Given the description of an element on the screen output the (x, y) to click on. 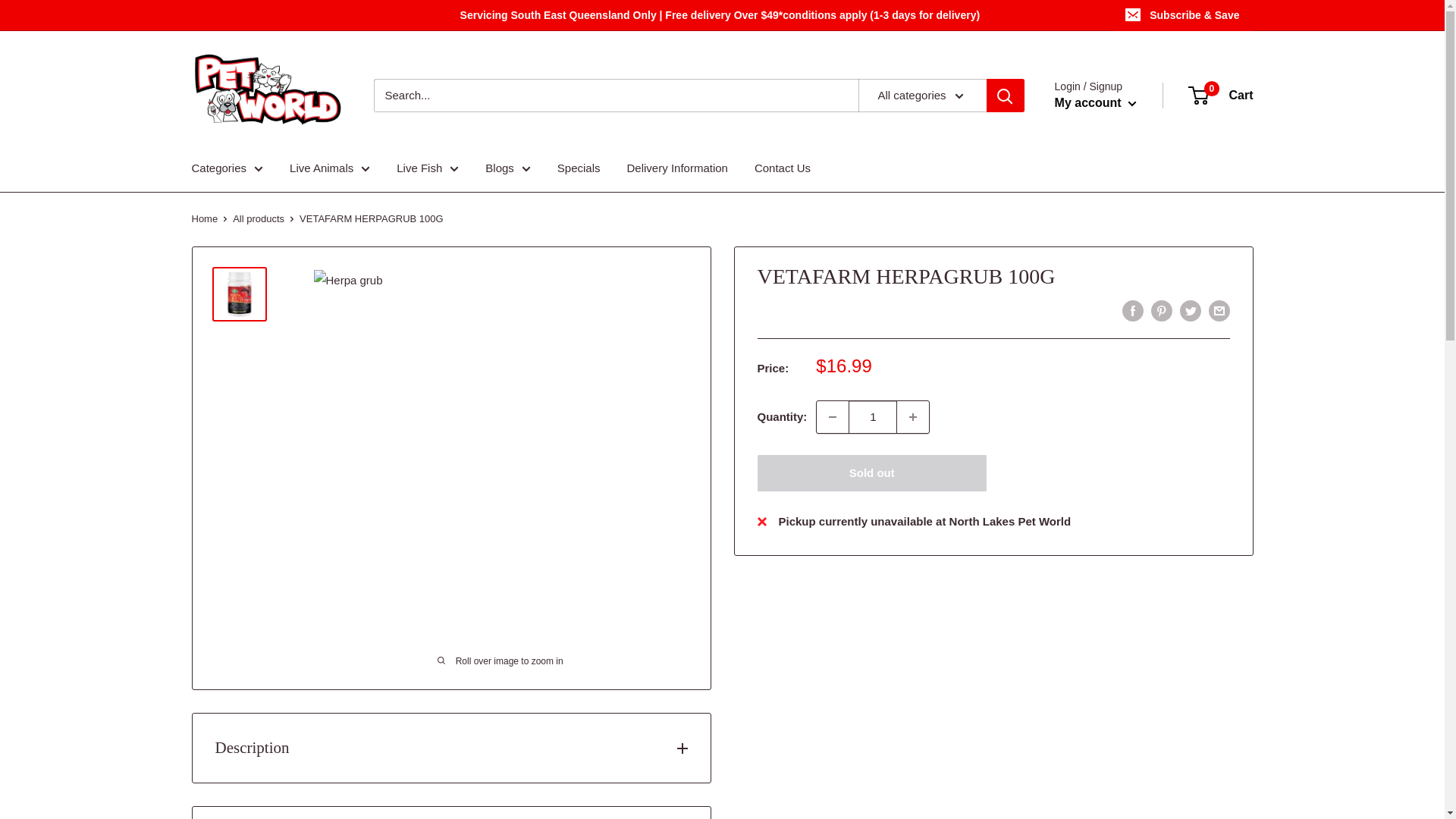
Decrease quantity by 1 (832, 417)
1 (872, 417)
Increase quantity by 1 (912, 417)
